Given the description of an element on the screen output the (x, y) to click on. 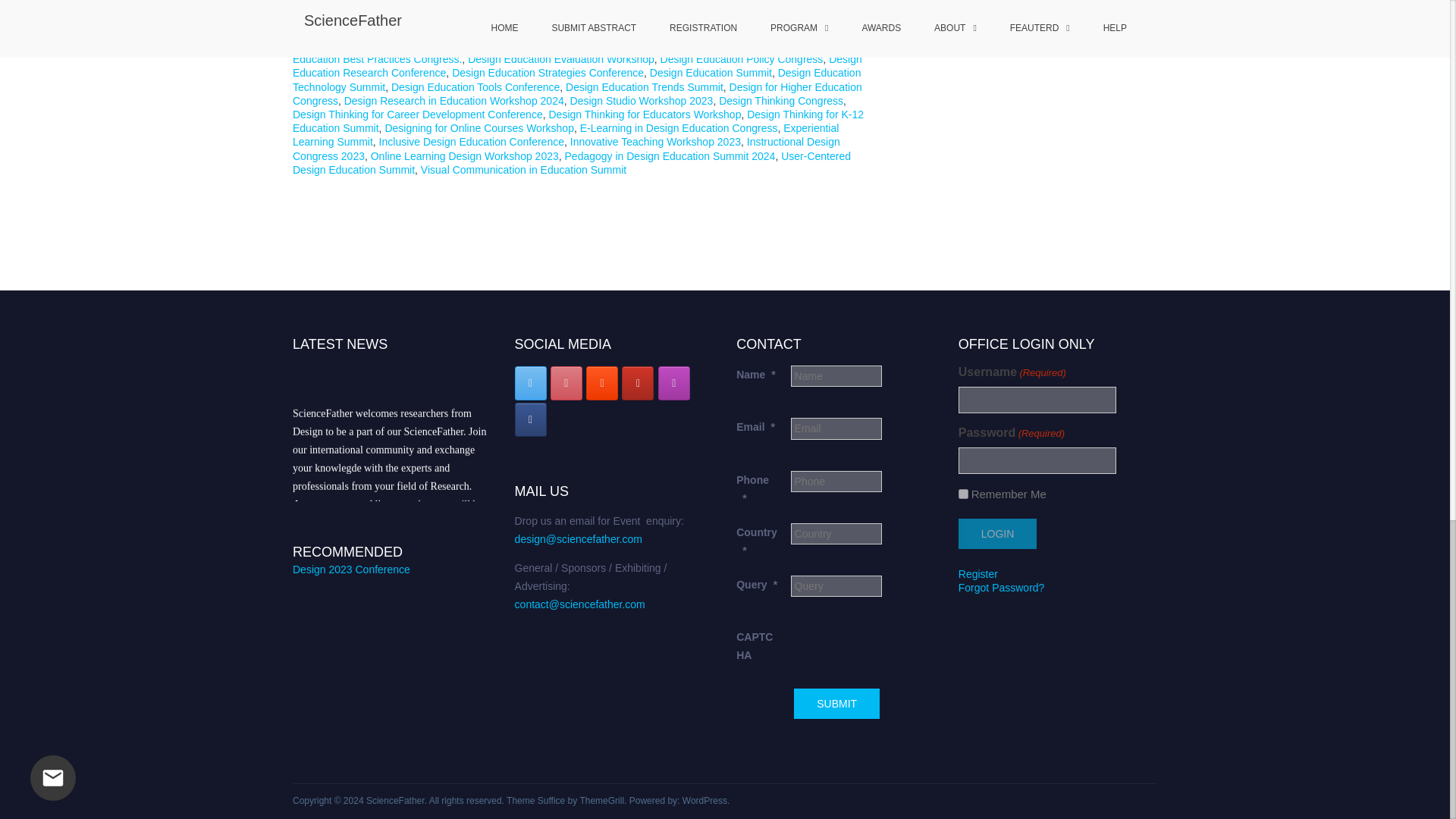
Creative Pedagogy Summit (443, 31)
Forgot Password? (1001, 587)
2024 Design Education Innovations Congress (461, 18)
2024 Digital Design Education Congress (670, 18)
ScienceFather on Facebook (531, 419)
Submit (836, 703)
ScienceFather on Youtube (637, 383)
ScienceFather on Instagram (674, 383)
Login (997, 533)
Collaborative Learning Summit (563, 24)
